Given the description of an element on the screen output the (x, y) to click on. 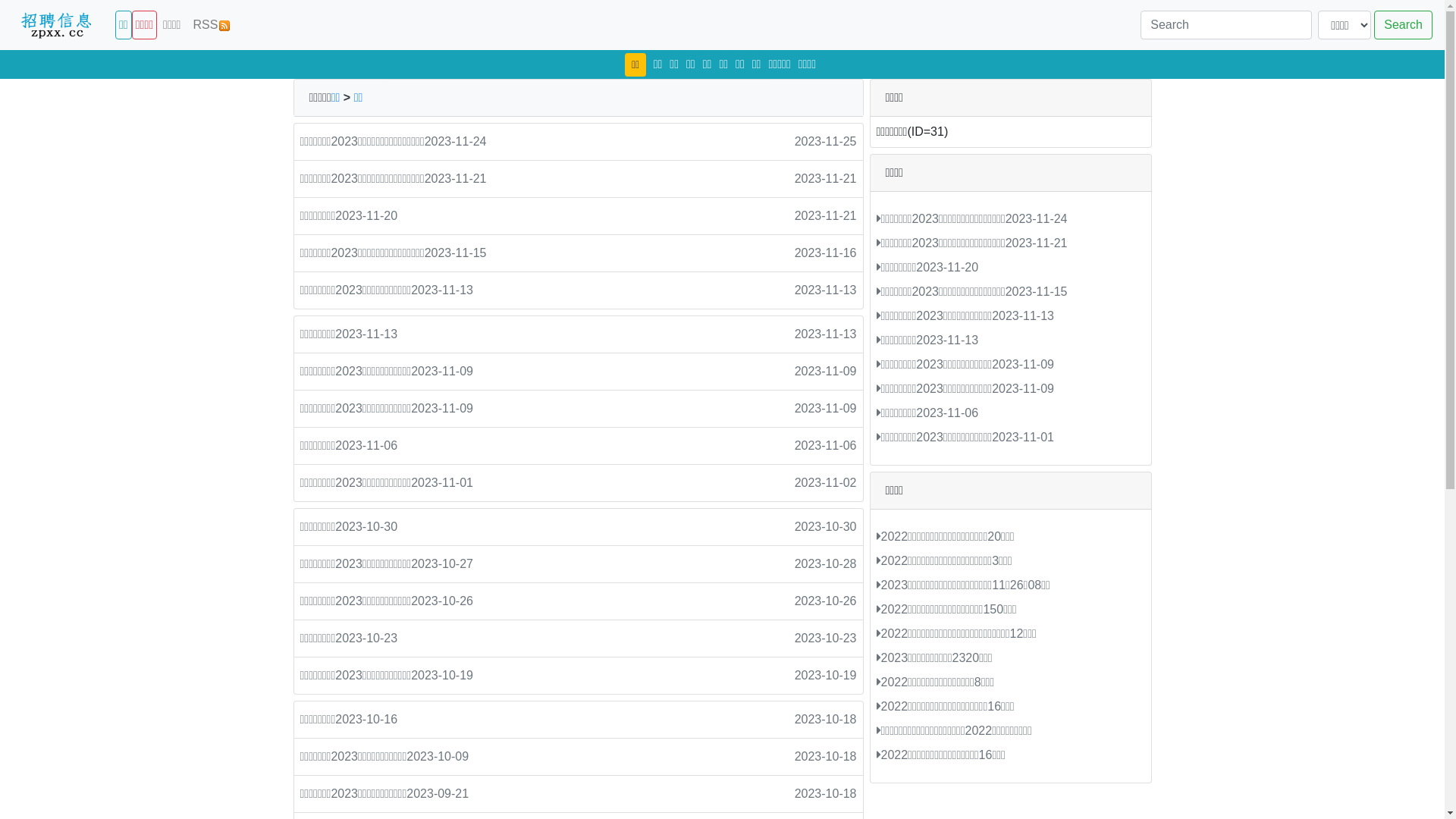
Search Element type: text (1403, 24)
RSS Element type: text (211, 24)
